Given the description of an element on the screen output the (x, y) to click on. 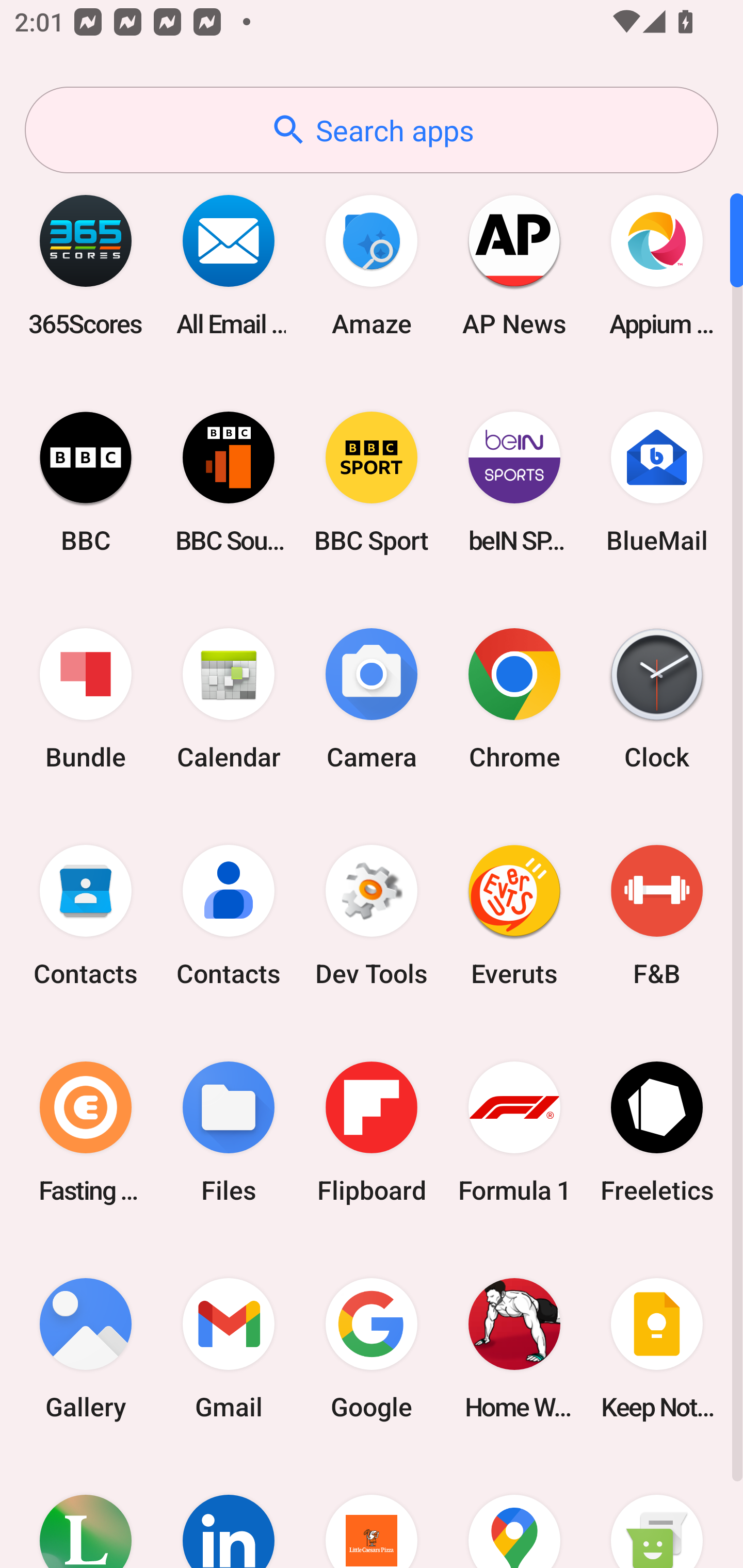
  Search apps (371, 130)
365Scores (85, 264)
All Email Connect (228, 264)
Amaze (371, 264)
AP News (514, 264)
Appium Settings (656, 264)
BBC (85, 482)
BBC Sounds (228, 482)
BBC Sport (371, 482)
beIN SPORTS (514, 482)
BlueMail (656, 482)
Bundle (85, 699)
Calendar (228, 699)
Camera (371, 699)
Chrome (514, 699)
Clock (656, 699)
Contacts (85, 915)
Contacts (228, 915)
Dev Tools (371, 915)
Everuts (514, 915)
F&B (656, 915)
Fasting Coach (85, 1131)
Files (228, 1131)
Flipboard (371, 1131)
Formula 1 (514, 1131)
Freeletics (656, 1131)
Gallery (85, 1348)
Gmail (228, 1348)
Google (371, 1348)
Home Workout (514, 1348)
Keep Notes (656, 1348)
Lifesum (85, 1512)
LinkedIn (228, 1512)
Little Caesars Pizza (371, 1512)
Maps (514, 1512)
Messaging (656, 1512)
